Given the description of an element on the screen output the (x, y) to click on. 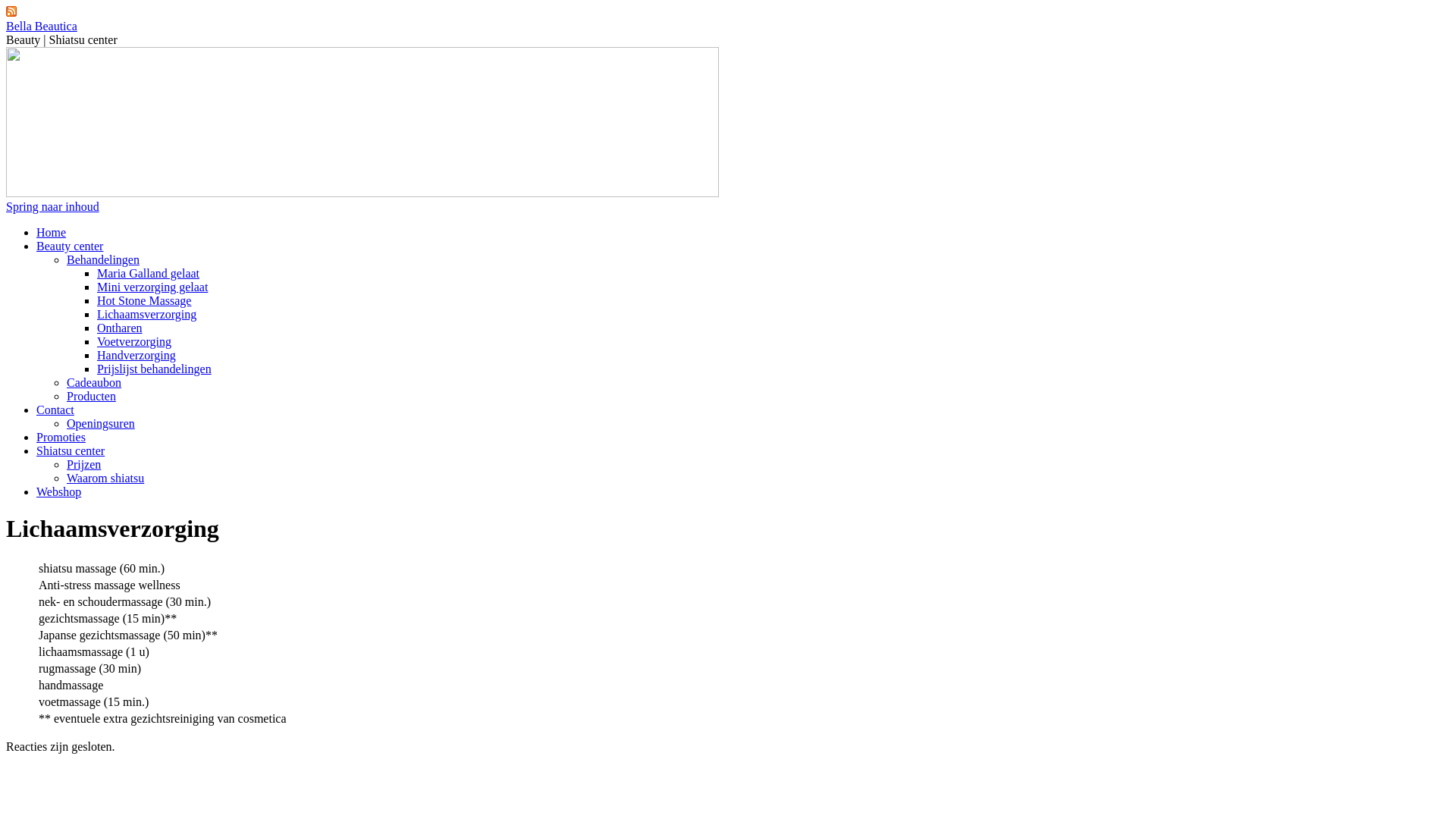
Spring naar inhoud Element type: text (52, 206)
Shiatsu center Element type: text (70, 450)
Lichaamsverzorging Element type: text (146, 313)
Subscribe Element type: hover (11, 12)
Handverzorging Element type: text (136, 354)
Ontharen Element type: text (119, 327)
Prijslijst behandelingen Element type: text (154, 368)
Voetverzorging Element type: text (134, 341)
Home Element type: text (50, 231)
Behandelingen Element type: text (102, 259)
Webshop Element type: text (58, 491)
Bella Beautica Element type: text (41, 25)
Waarom shiatsu Element type: text (105, 477)
Mini verzorging gelaat Element type: text (152, 286)
Prijzen Element type: text (83, 464)
Openingsuren Element type: text (100, 423)
Producten Element type: text (91, 395)
Contact Element type: text (55, 409)
Cadeaubon Element type: text (93, 382)
Hot Stone Massage Element type: text (144, 300)
Promoties Element type: text (60, 436)
Beauty center Element type: text (69, 245)
Maria Galland gelaat Element type: text (148, 272)
